Given the description of an element on the screen output the (x, y) to click on. 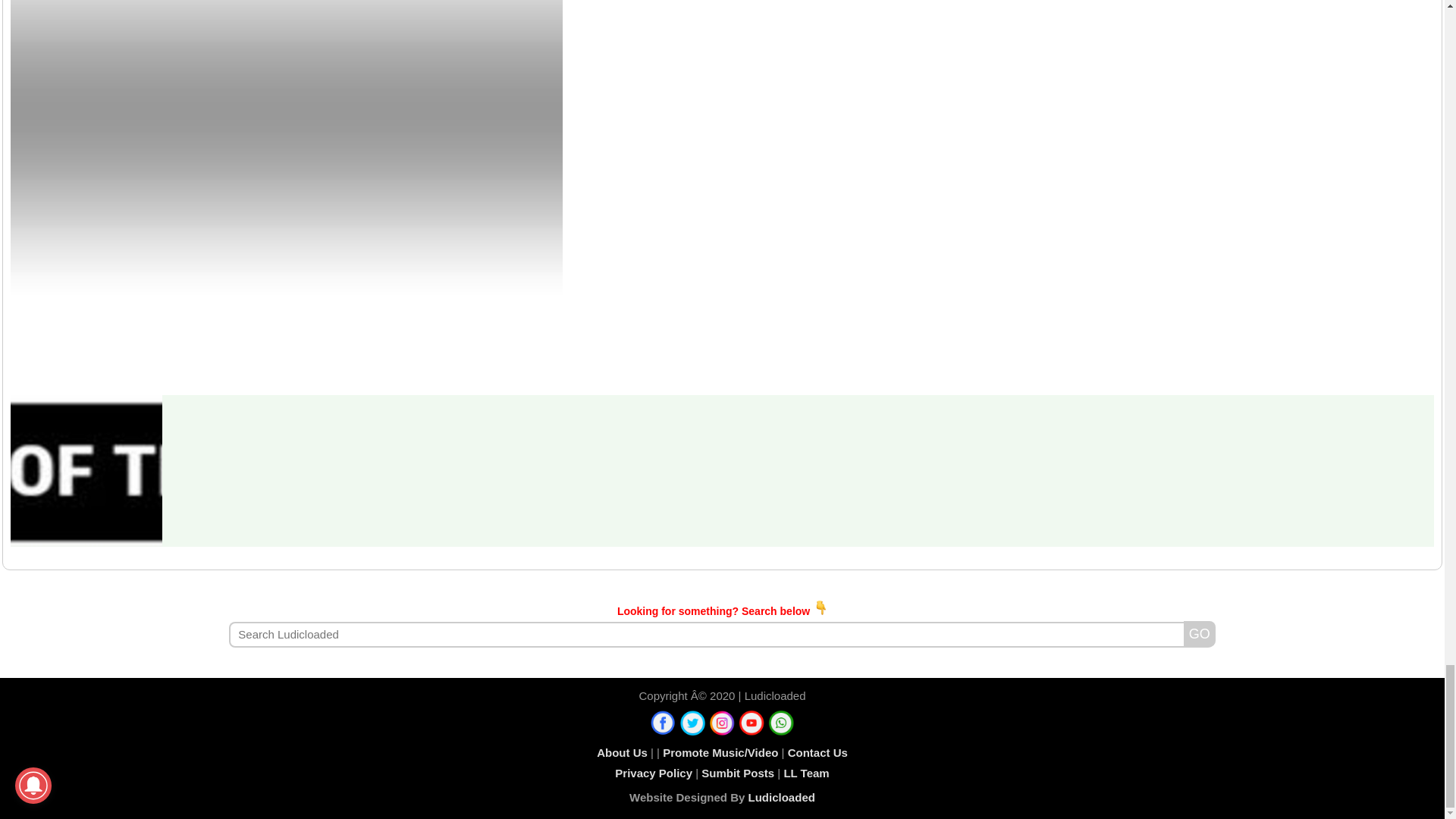
WhatsApp (781, 723)
Facebook (663, 723)
Youtube (751, 723)
GO (1199, 633)
Instagram (722, 723)
Twitter (692, 723)
GO (1199, 633)
